Given the description of an element on the screen output the (x, y) to click on. 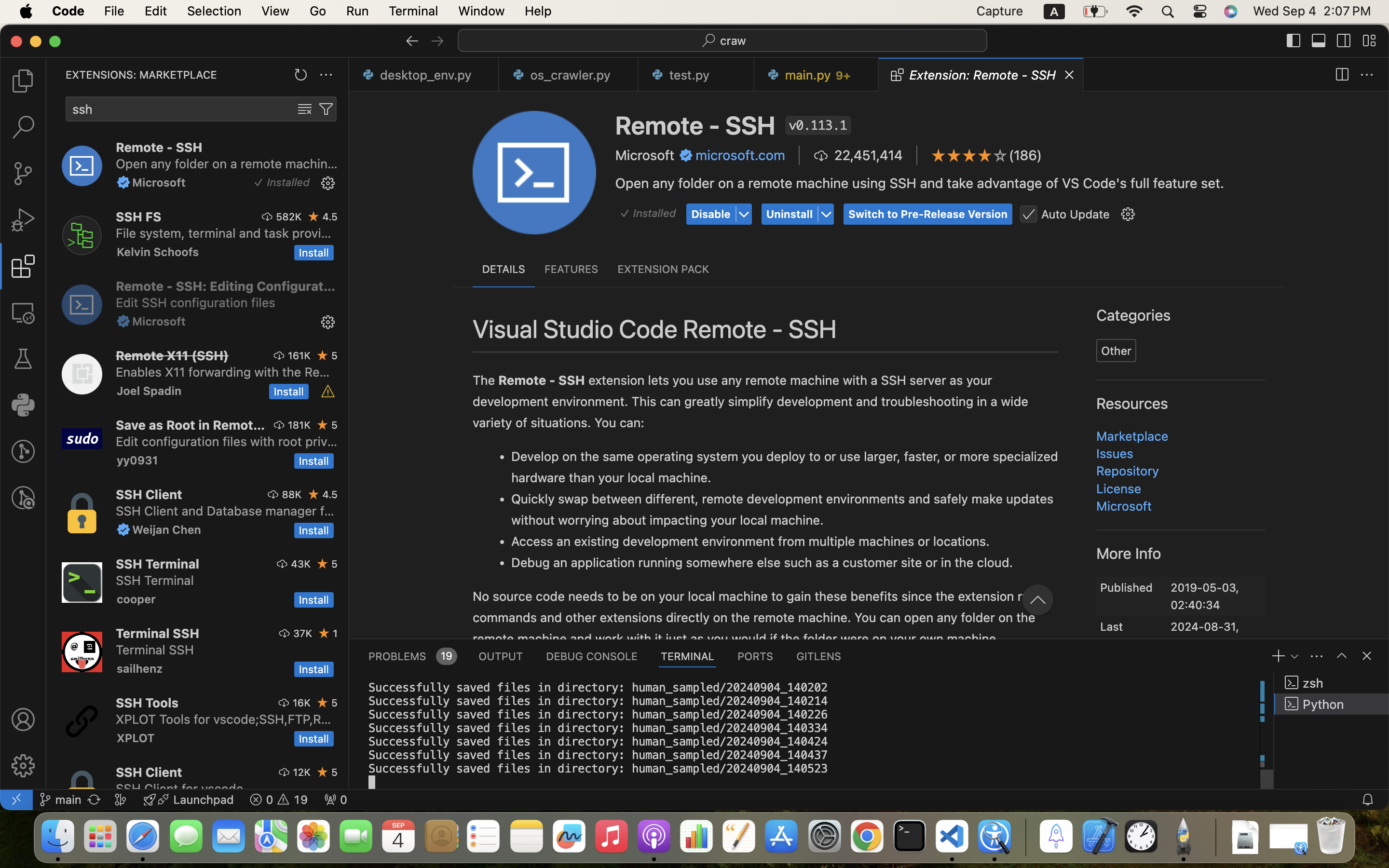
37K Element type: AXStaticText (302, 632)
SSH FS Element type: AXStaticText (138, 216)
2024-08-31, 03:38:34 Element type: AXStaticText (1205, 628)
4.5 Element type: AXStaticText (329, 216)
Edit SSH configuration files Element type: AXStaticText (195, 302)
